Given the description of an element on the screen output the (x, y) to click on. 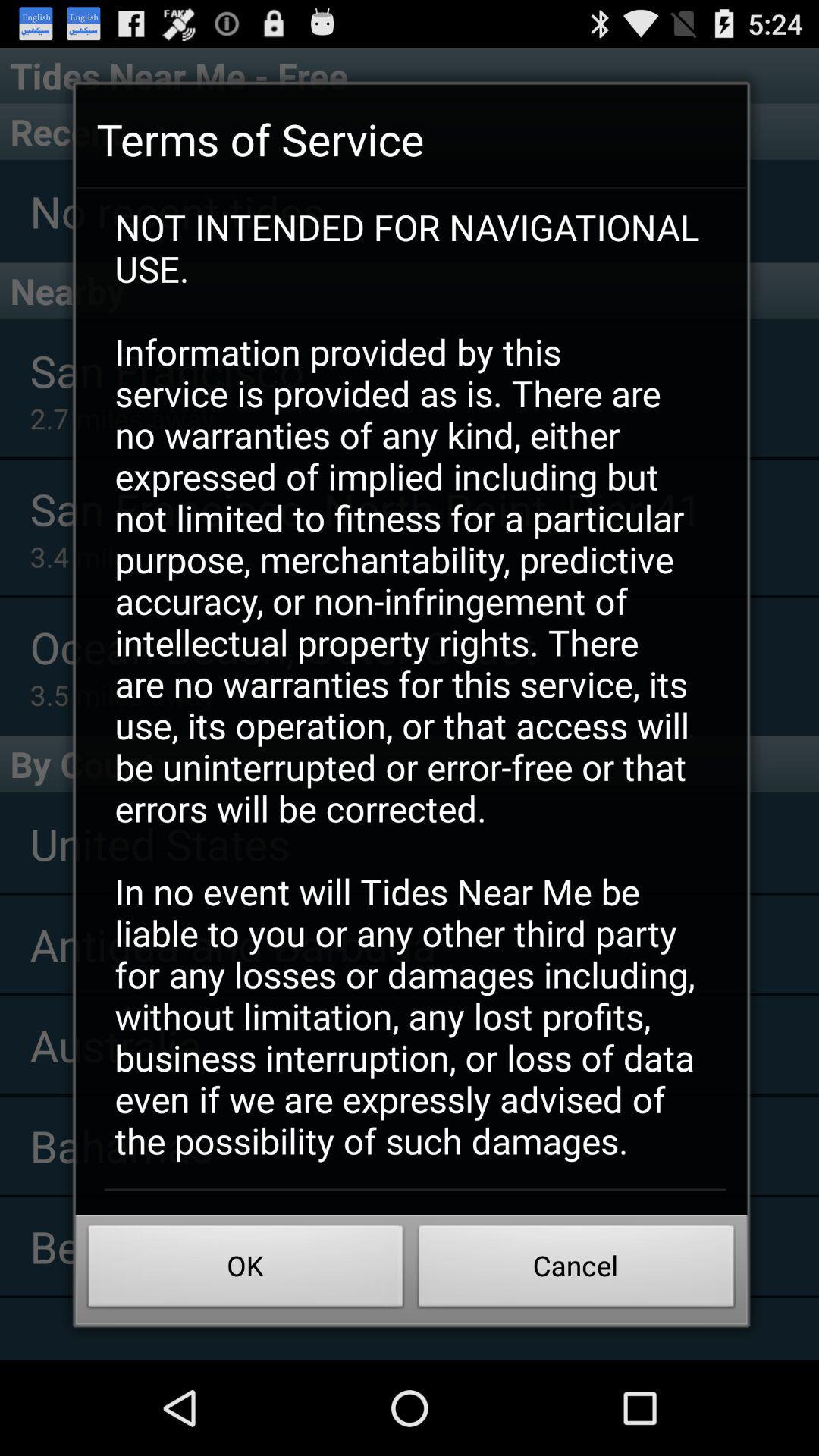
choose the button to the right of ok (576, 1270)
